Given the description of an element on the screen output the (x, y) to click on. 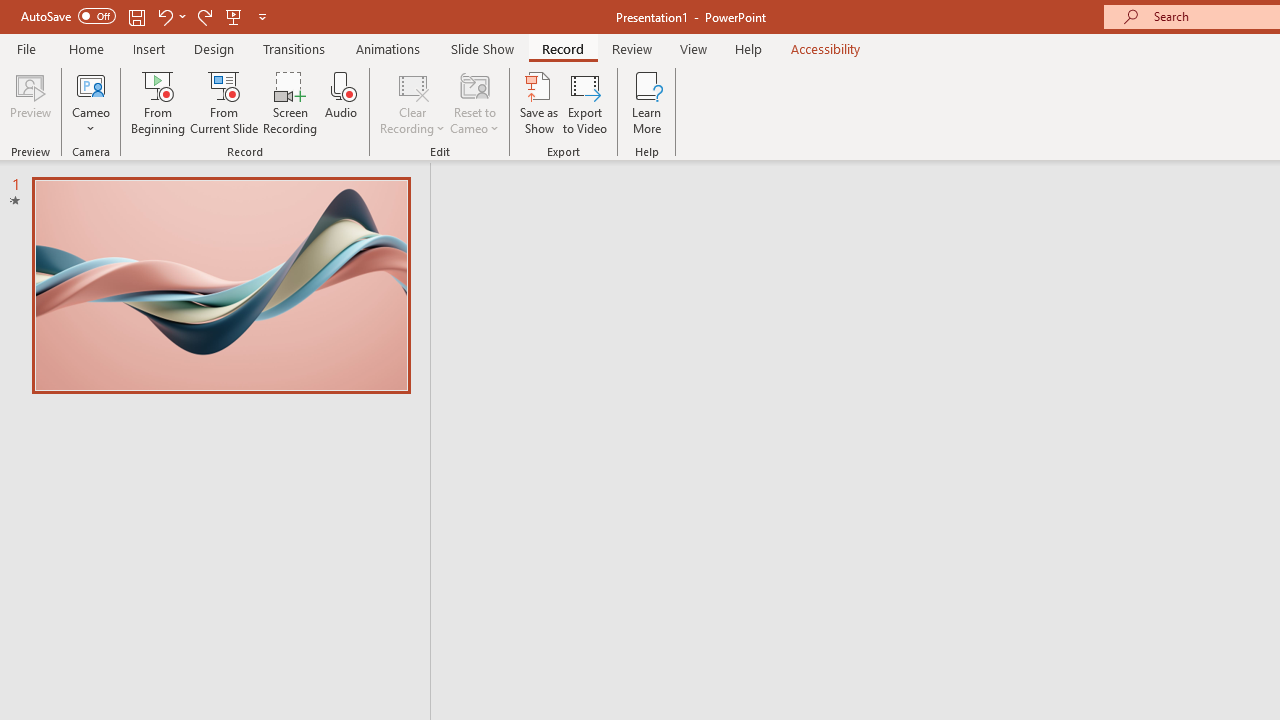
Screen Recording (290, 102)
Reset to Cameo (474, 102)
Clear Recording (412, 102)
Learn More (646, 102)
